Given the description of an element on the screen output the (x, y) to click on. 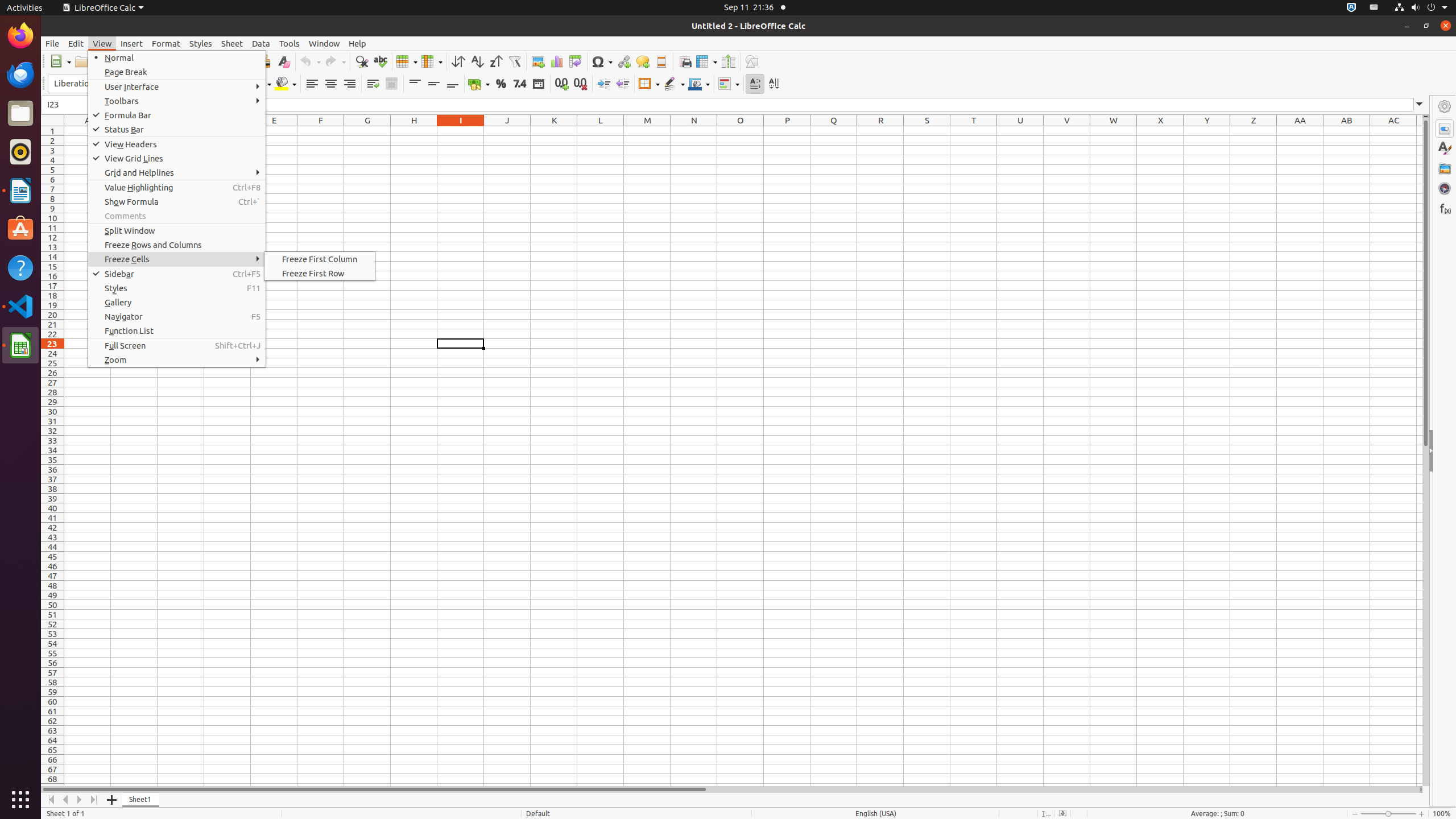
Freeze First Row Element type: menu-item (319, 273)
AutoFilter Element type: push-button (514, 61)
View Headers Element type: check-menu-item (176, 144)
File Element type: menu (51, 43)
